Given the description of an element on the screen output the (x, y) to click on. 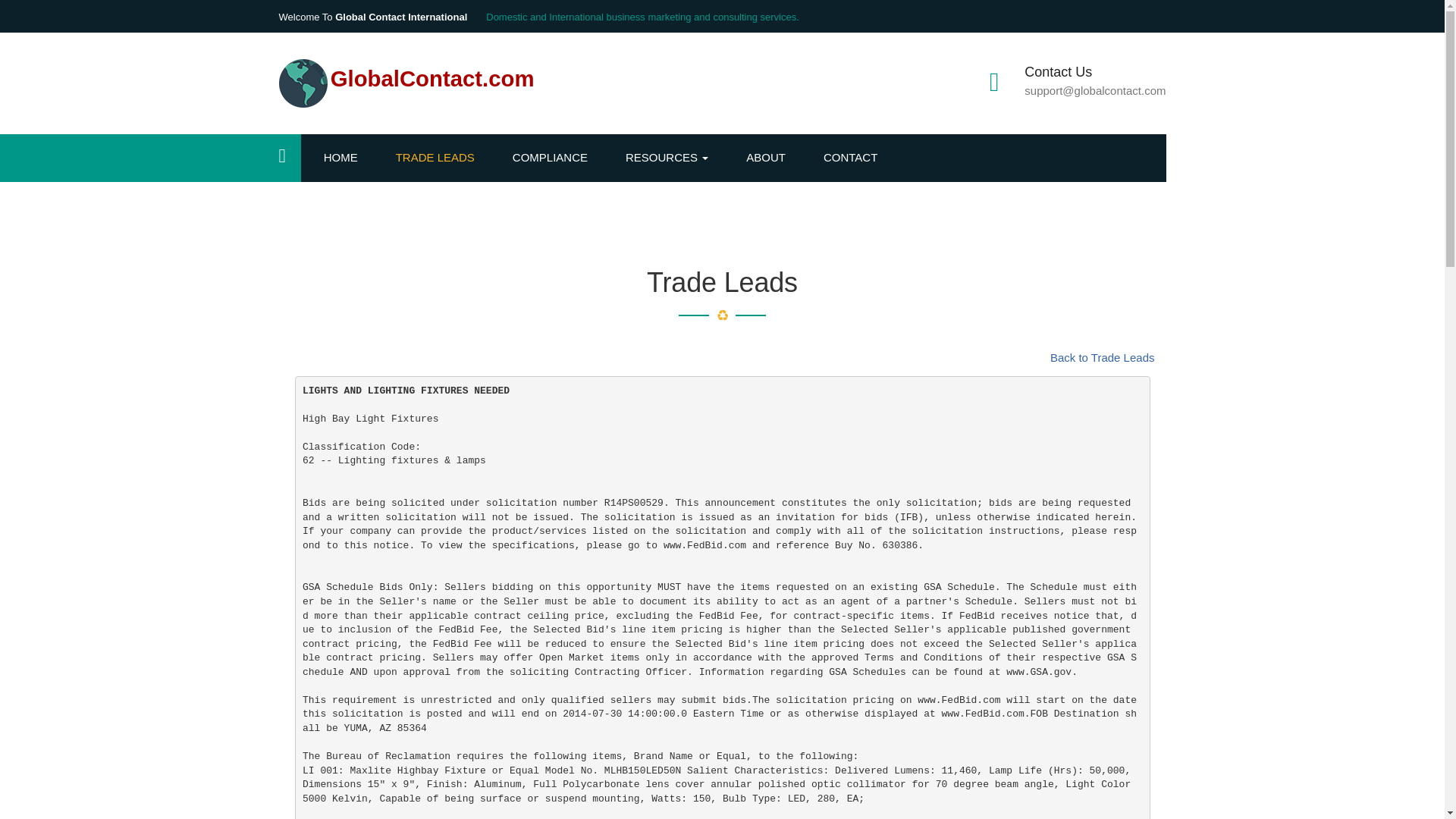
RESOURCES (674, 157)
Welcome To Global Contact International (373, 16)
COMPLIANCE (557, 157)
ABOUT (772, 157)
HOME (347, 157)
TRADE LEADS (442, 157)
CONTACT (858, 157)
Back to Trade Leads (1101, 357)
Logo (303, 82)
GlobalContact.com (406, 82)
